Given the description of an element on the screen output the (x, y) to click on. 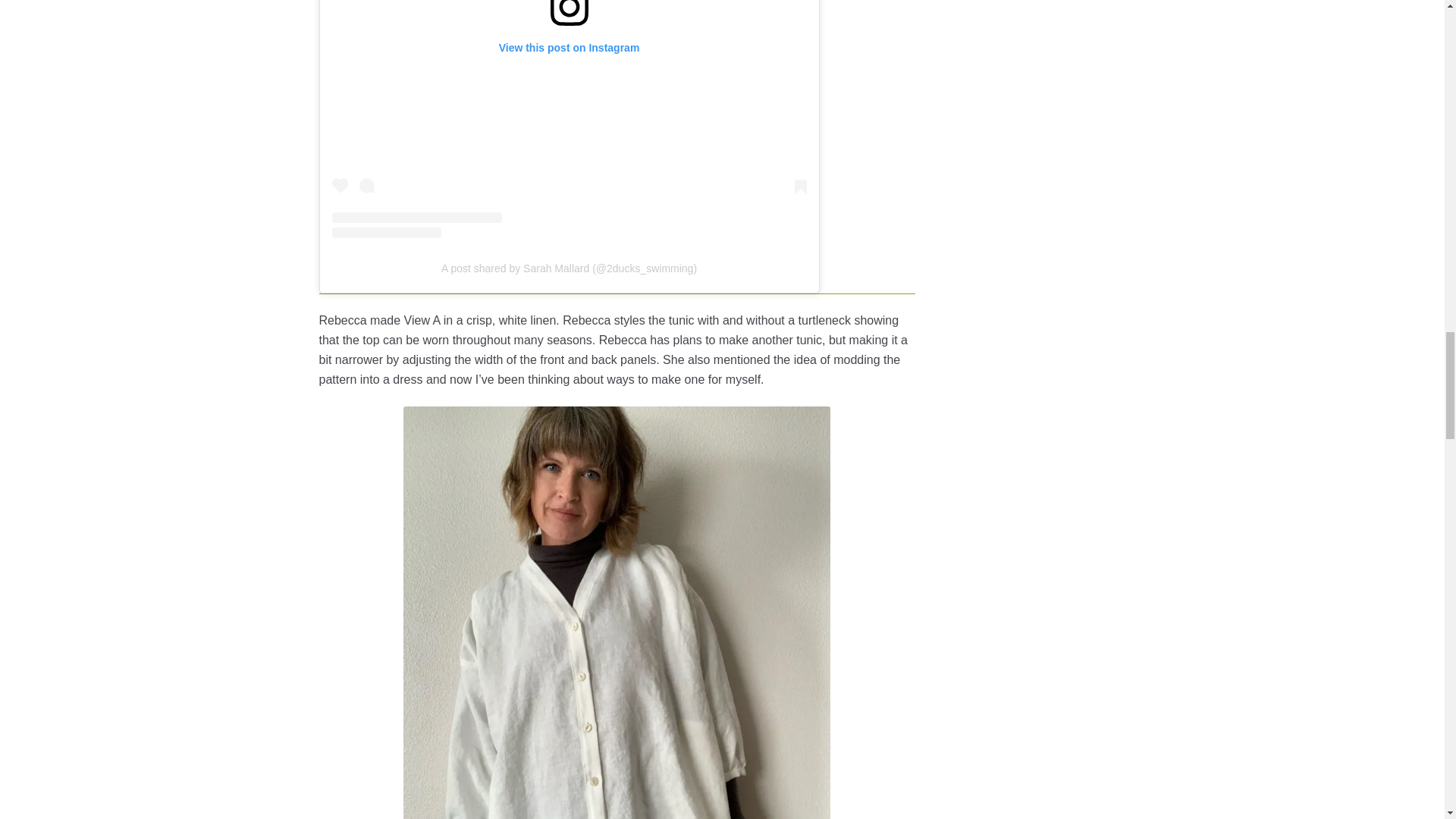
View this post on Instagram (568, 119)
